Given the description of an element on the screen output the (x, y) to click on. 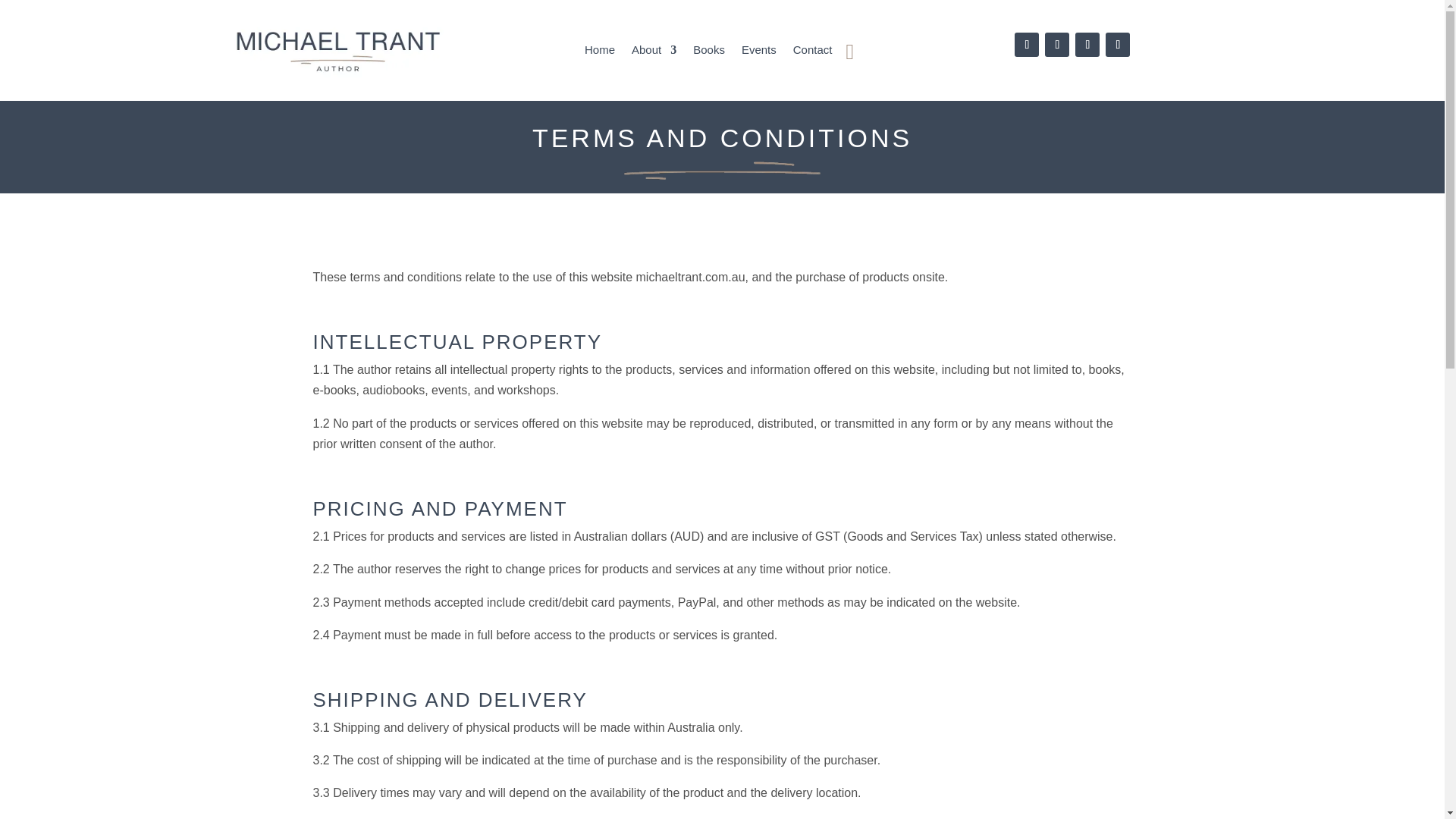
Follow on TikTok (1087, 44)
Follow on Twitter (1056, 44)
Follow on Facebook (1026, 44)
Follow on Instagram (1117, 44)
Michael Trant stickes (722, 169)
